Given the description of an element on the screen output the (x, y) to click on. 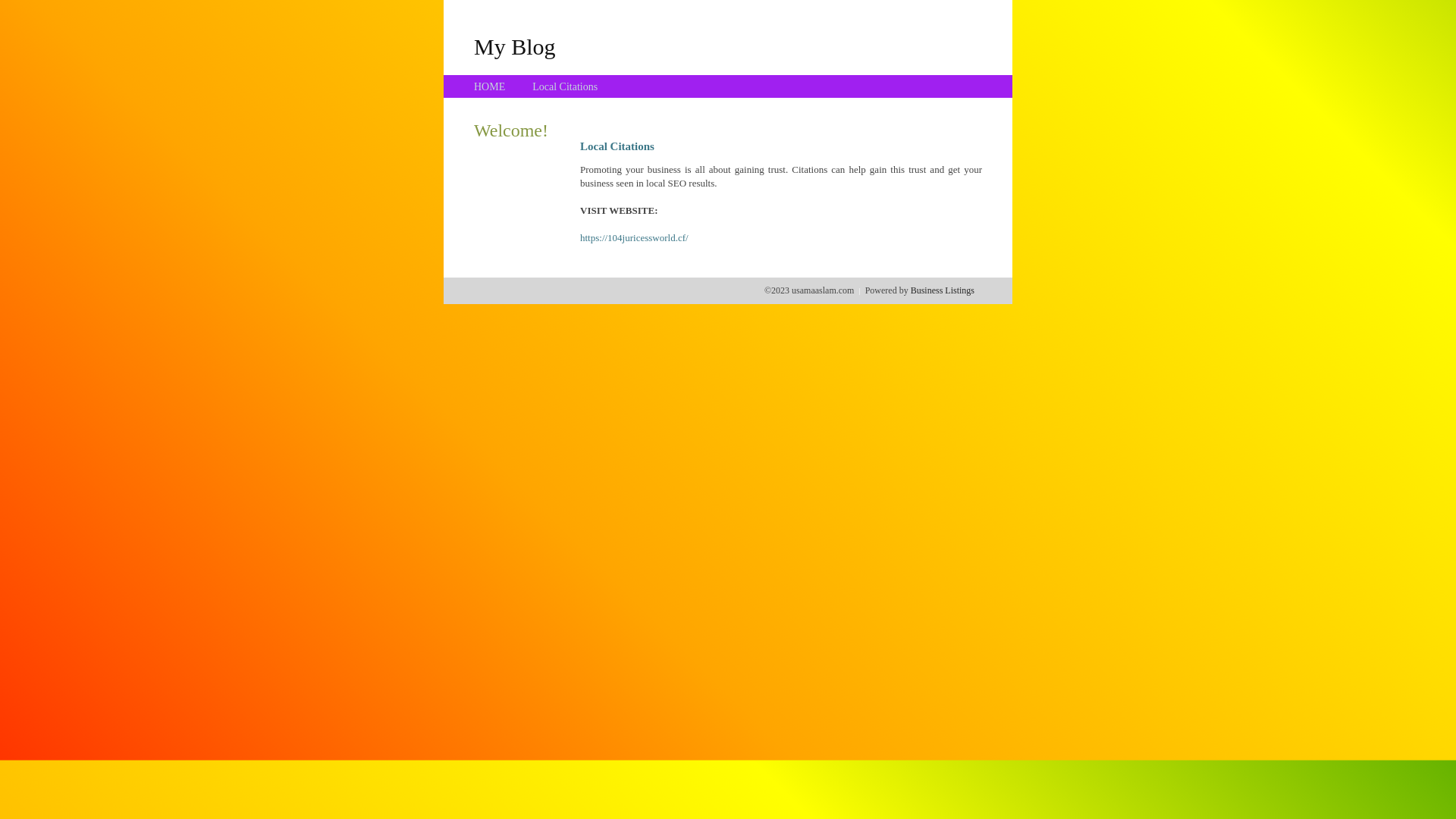
Business Listings Element type: text (942, 290)
https://104juricessworld.cf/ Element type: text (634, 237)
Local Citations Element type: text (564, 86)
HOME Element type: text (489, 86)
My Blog Element type: text (514, 46)
